Given the description of an element on the screen output the (x, y) to click on. 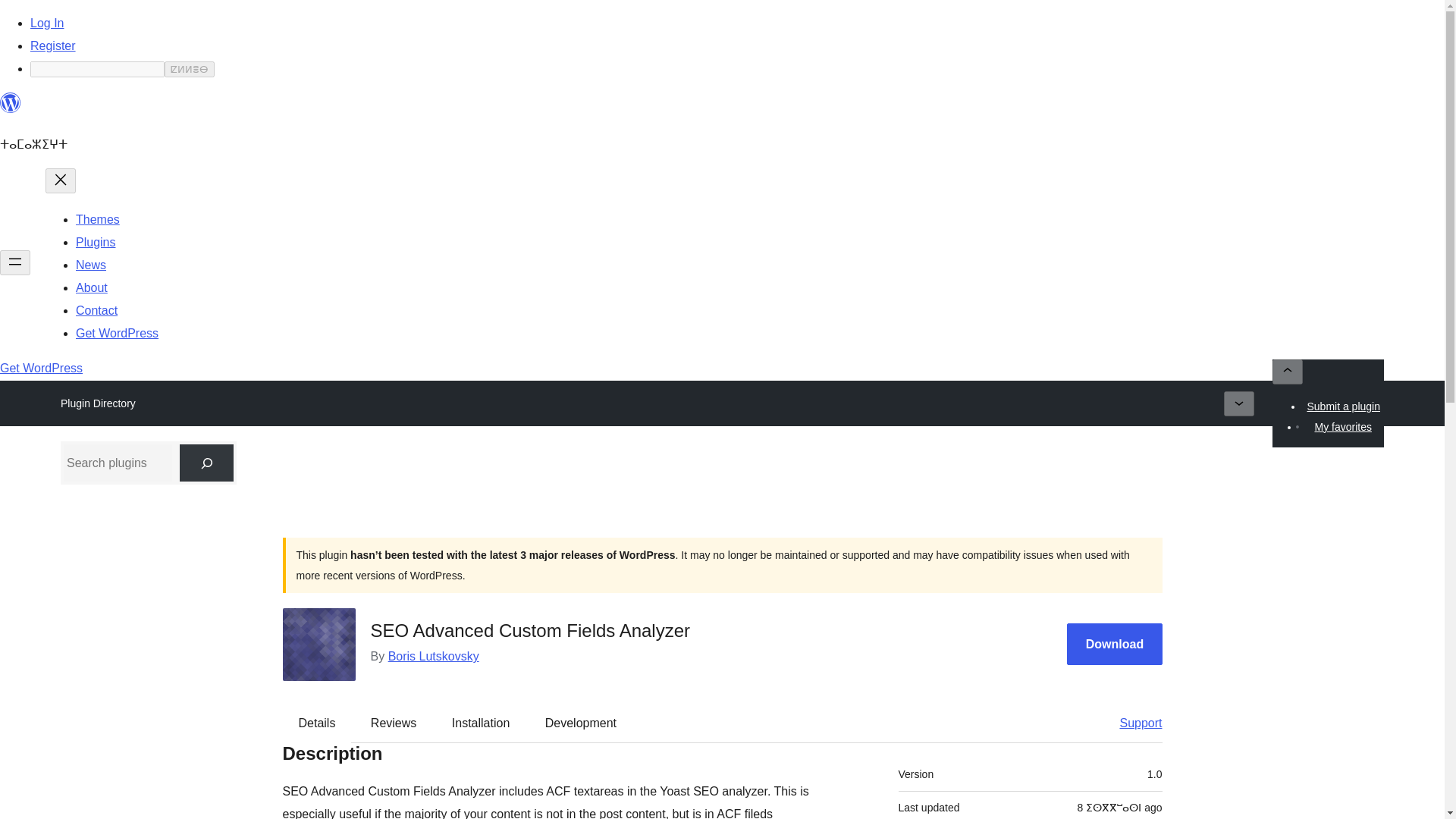
Download (1114, 644)
Register (52, 45)
Installation (480, 723)
Themes (97, 219)
Development (580, 723)
Plugins (95, 241)
Plugin Directory (97, 403)
Boris Lutskovsky (433, 656)
WordPress.org (10, 109)
Get WordPress (41, 367)
News (90, 264)
Log In (47, 22)
Contact (96, 309)
Submit a plugin (1343, 406)
About (91, 287)
